Given the description of an element on the screen output the (x, y) to click on. 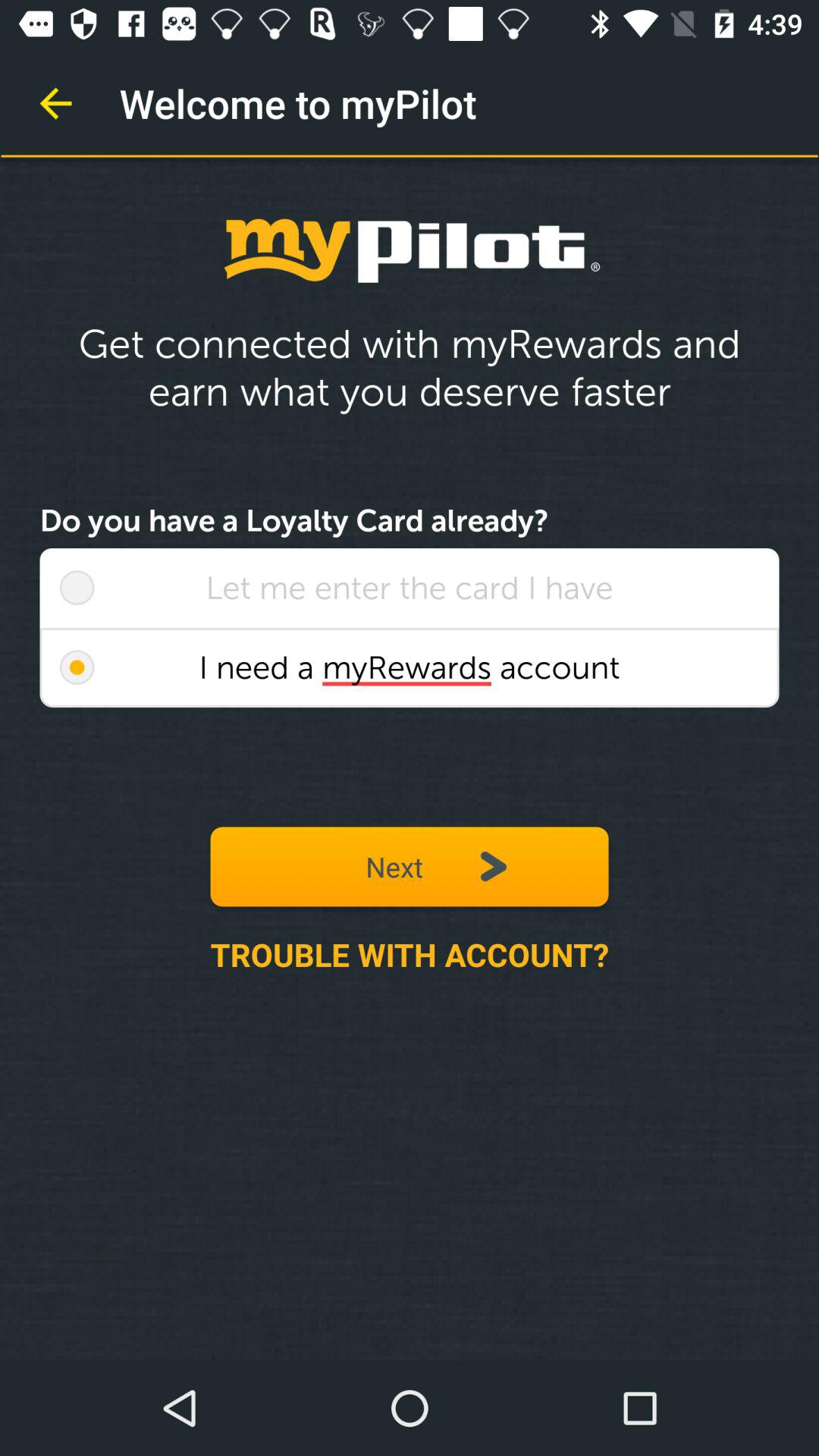
turn on the item above the trouble with account? item (76, 667)
